Given the description of an element on the screen output the (x, y) to click on. 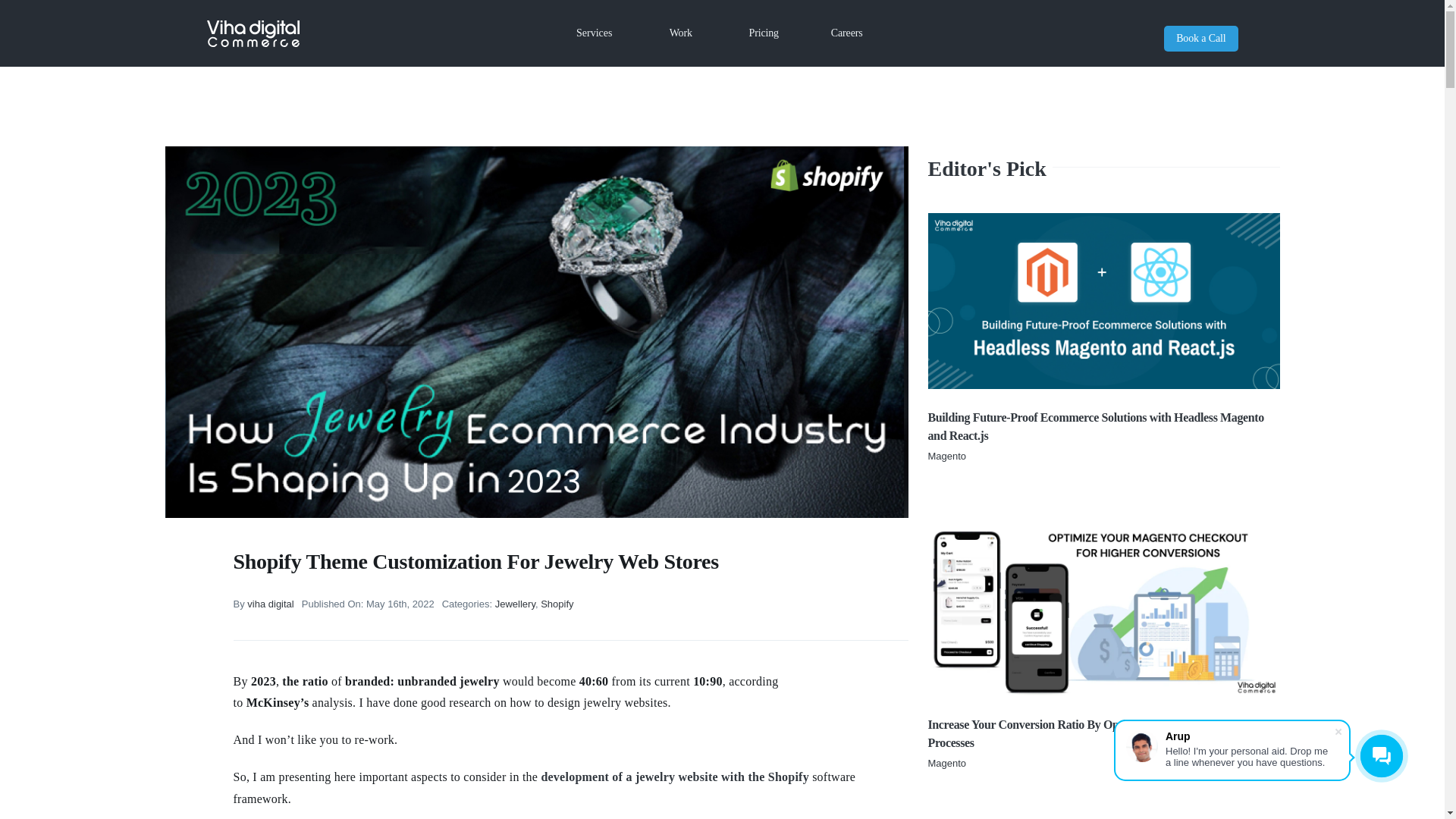
Services (593, 32)
Posts by viha digital (270, 603)
Book a Call (1200, 38)
